Given the description of an element on the screen output the (x, y) to click on. 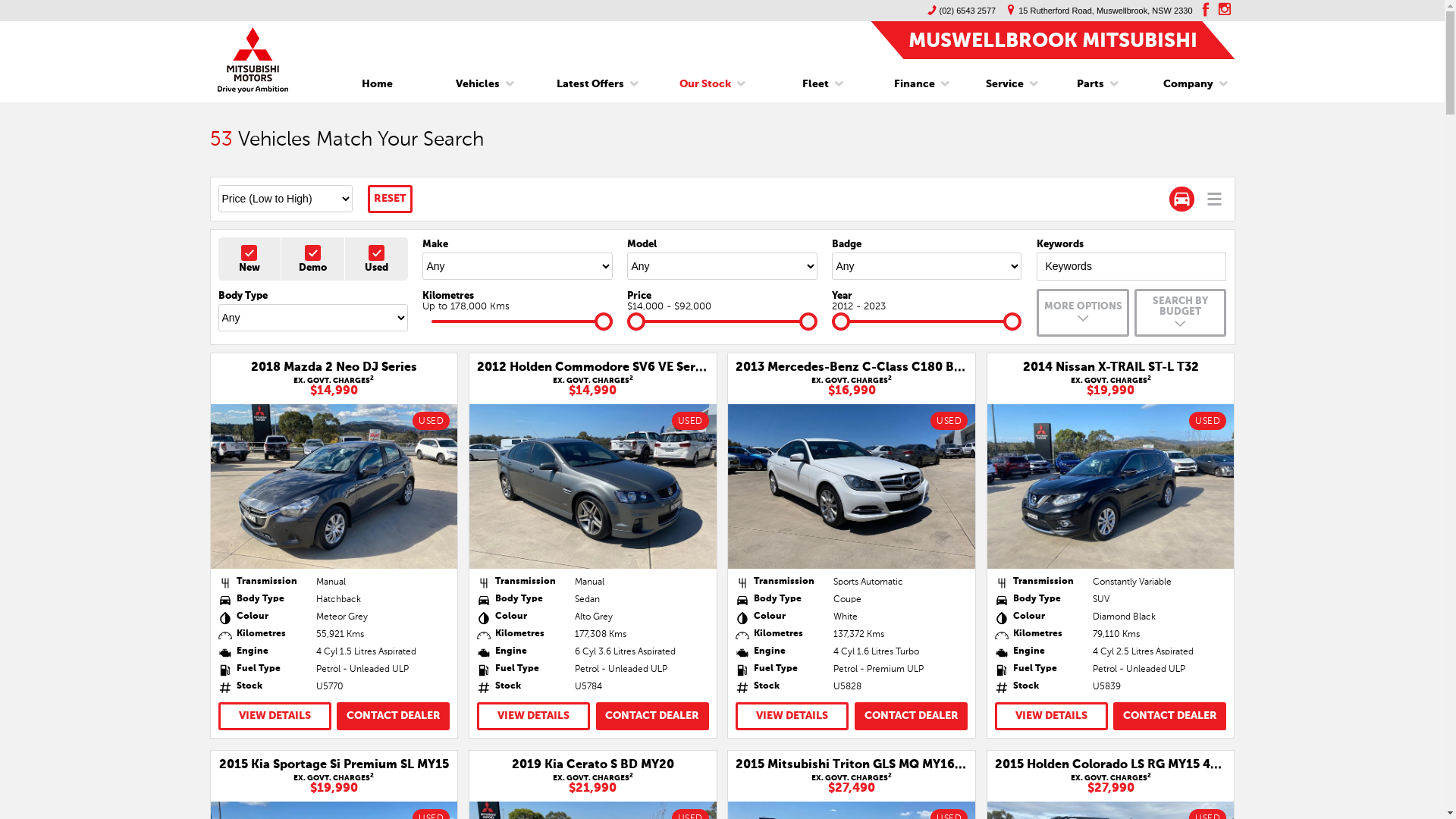
RESET Element type: text (389, 199)
Finance Element type: text (914, 83)
USED Element type: text (592, 486)
EX. GOVT. CHARGES2
$19,990 Element type: text (1110, 385)
Service Element type: text (1004, 83)
Latest Offers Element type: text (590, 83)
CONTACT DEALER Element type: text (1169, 716)
facebook Element type: text (1203, 9)
SEARCH BY BUDGET Element type: text (1180, 312)
VIEW DETAILS Element type: text (274, 716)
MORE OPTIONS Element type: text (1082, 312)
Vehicles Element type: text (477, 83)
EX. GOVT. CHARGES2
$14,990 Element type: text (334, 385)
VIEW DETAILS Element type: text (532, 716)
USED Element type: text (851, 486)
EX. GOVT. CHARGES2
$27,490 Element type: text (851, 782)
instagram Element type: text (1224, 9)
EX. GOVT. CHARGES2
$21,990 Element type: text (592, 782)
Our Stock Element type: text (705, 83)
VIEW DETAILS Element type: text (791, 716)
USED Element type: text (1110, 486)
EX. GOVT. CHARGES2
$16,990 Element type: text (851, 385)
15 Rutherford Road, Muswellbrook, NSW 2330 Element type: text (1095, 10)
CONTACT DEALER Element type: text (910, 716)
VIEW DETAILS Element type: text (1050, 716)
EX. GOVT. CHARGES2
$19,990 Element type: text (334, 782)
CONTACT DEALER Element type: text (652, 716)
EX. GOVT. CHARGES2
$27,990 Element type: text (1110, 782)
USED Element type: text (334, 486)
Company Element type: text (1182, 83)
CONTACT DEALER Element type: text (392, 716)
MUSWELLBROOK MITSUBISHI Element type: text (1052, 40)
Home Element type: text (377, 83)
Parts Element type: text (1090, 83)
EX. GOVT. CHARGES2
$14,990 Element type: text (592, 385)
Fleet Element type: text (815, 83)
